Given the description of an element on the screen output the (x, y) to click on. 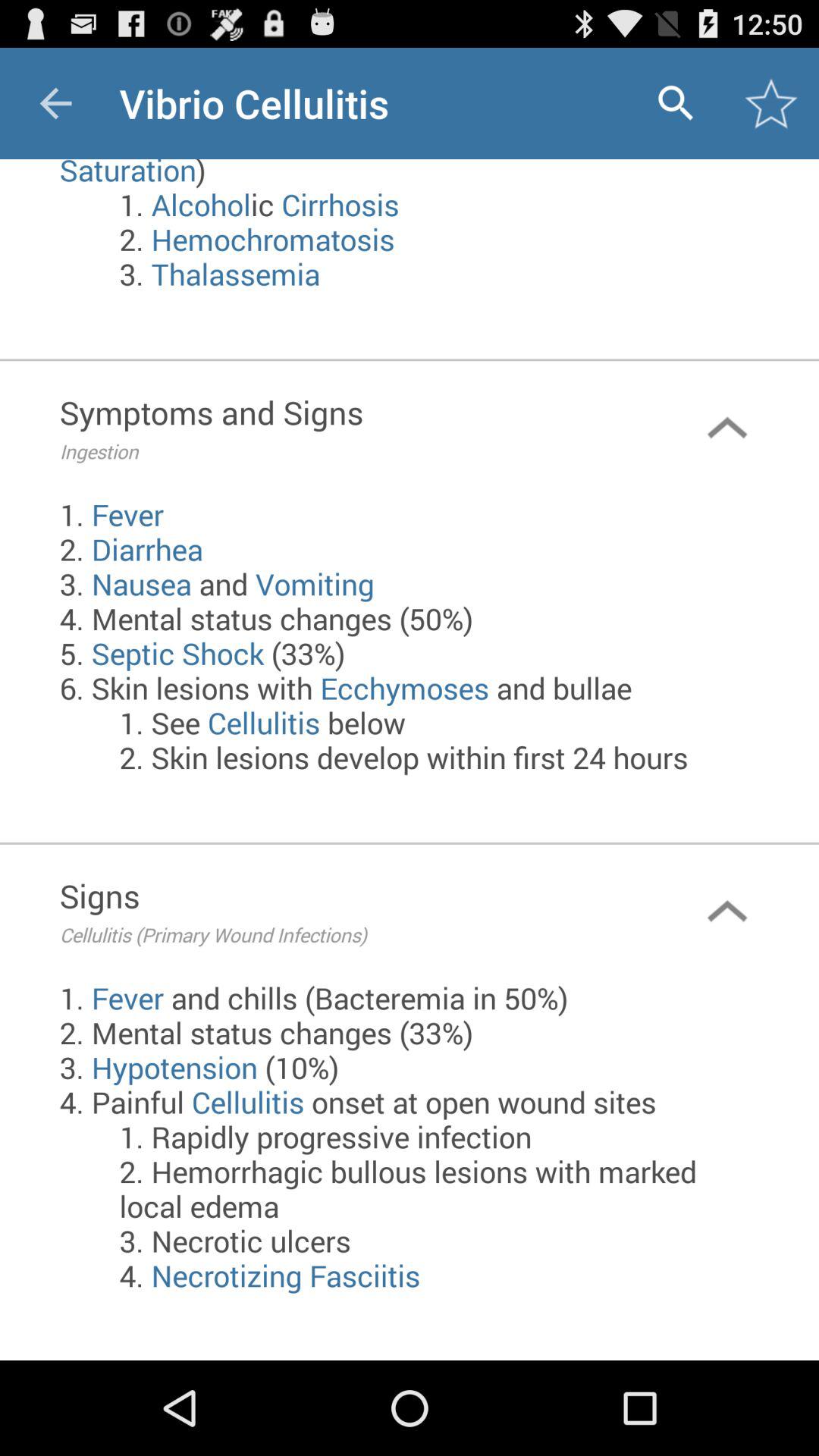
open the icon above the 1 immunocompromising conditions (55, 103)
